Given the description of an element on the screen output the (x, y) to click on. 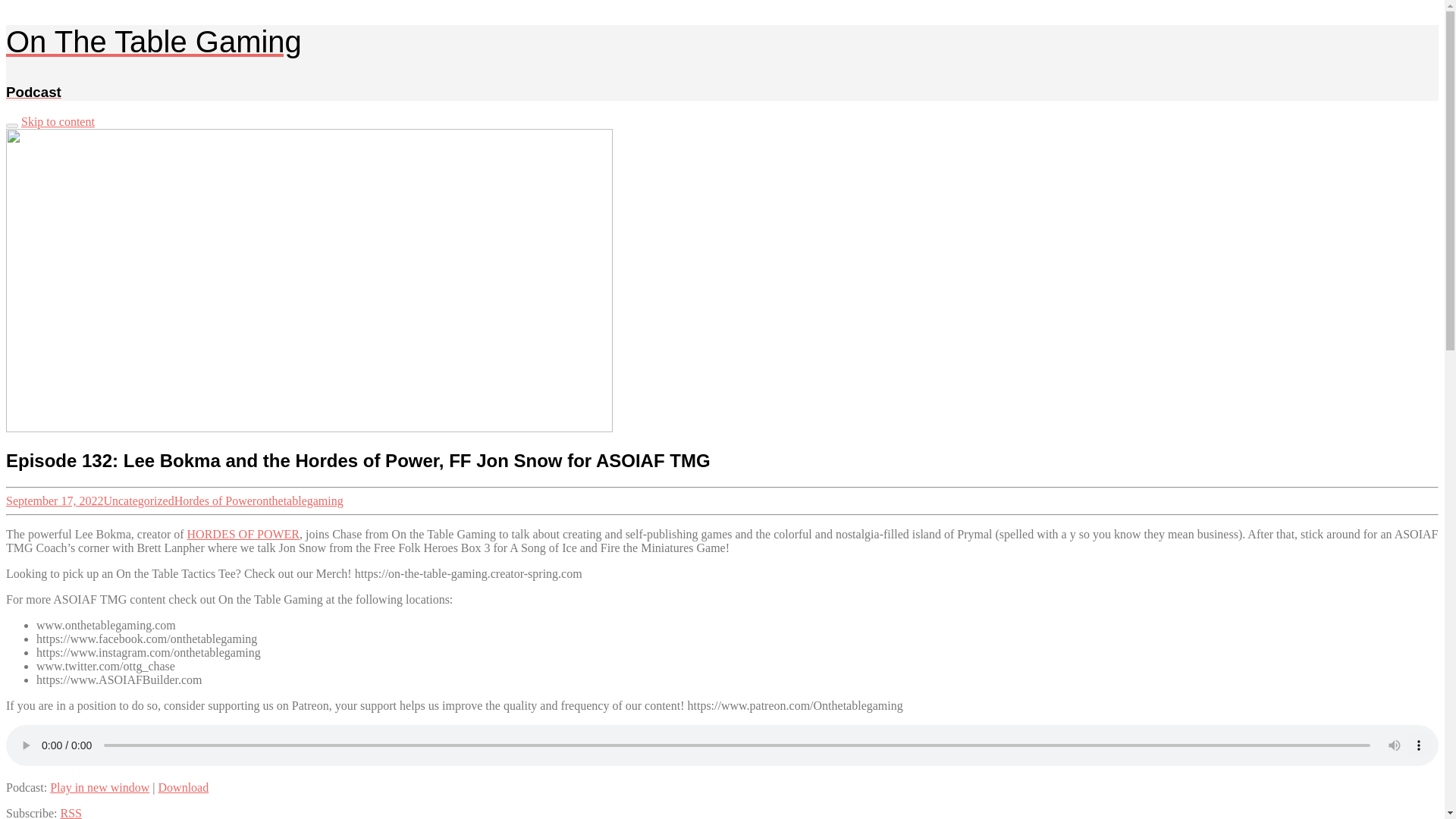
RSS (71, 812)
Uncategorized (138, 500)
onthetablegaming (299, 500)
Skip to content (57, 121)
Play in new window (99, 787)
Download (183, 787)
HORDES OF POWER (243, 533)
Play in new window (99, 787)
Download (183, 787)
Hordes of Power (215, 500)
September 17, 2022 (54, 500)
View all posts by onthetablegaming (299, 500)
Skip to content (57, 121)
Subscribe via RSS (71, 812)
